Given the description of an element on the screen output the (x, y) to click on. 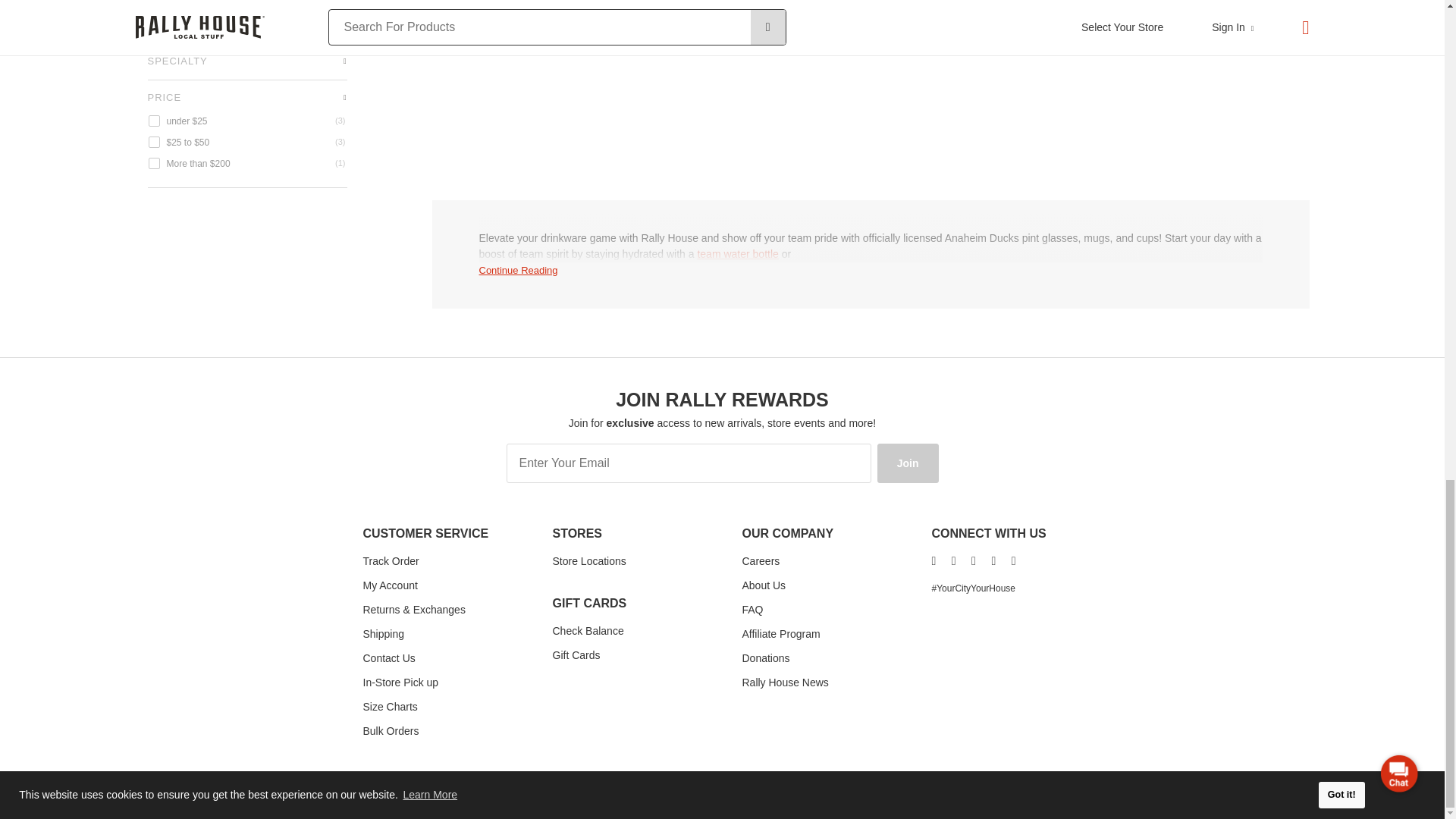
View Anaheim Ducks Slogan Coolie (870, 1)
View Anaheim Ducks 2 Sided Coolie (693, 1)
